Given the description of an element on the screen output the (x, y) to click on. 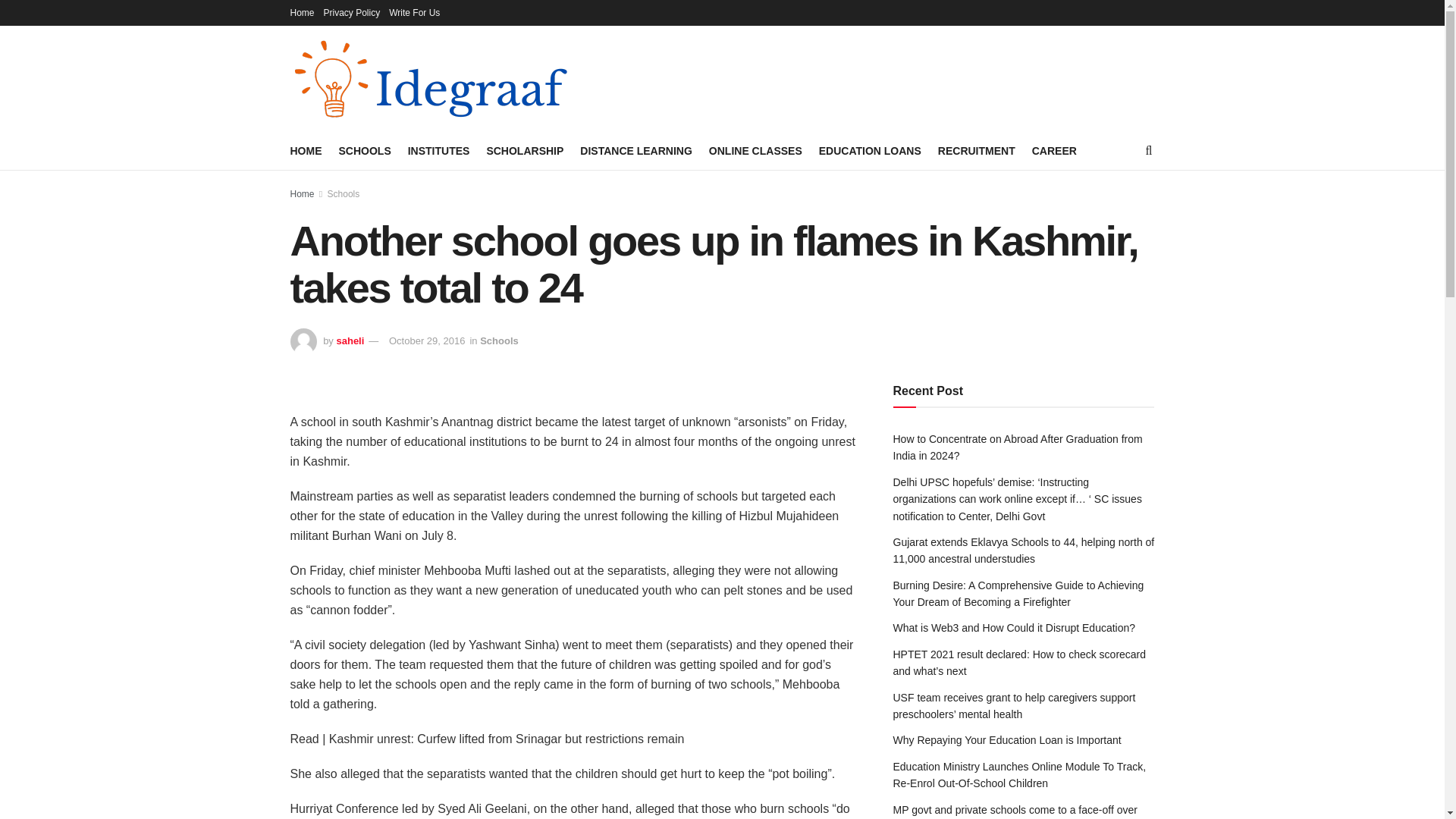
Privacy Policy (351, 12)
RECRUITMENT (975, 150)
EDUCATION LOANS (869, 150)
INSTITUTES (438, 150)
Schools (499, 340)
SCHOOLS (363, 150)
Schools (343, 194)
saheli (350, 340)
ONLINE CLASSES (755, 150)
SCHOLARSHIP (524, 150)
